Given the description of an element on the screen output the (x, y) to click on. 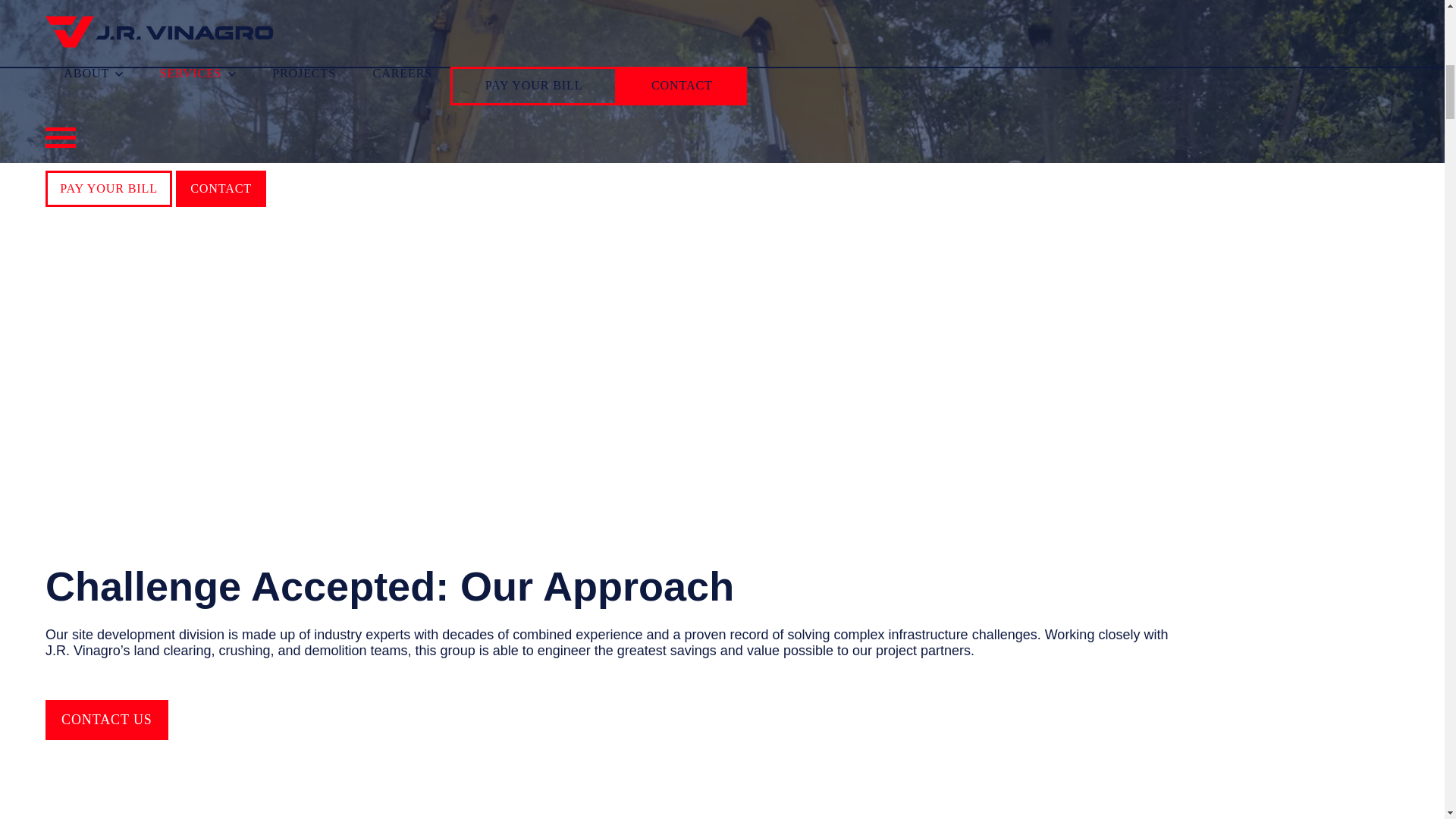
CONTACT US (106, 720)
